Given the description of an element on the screen output the (x, y) to click on. 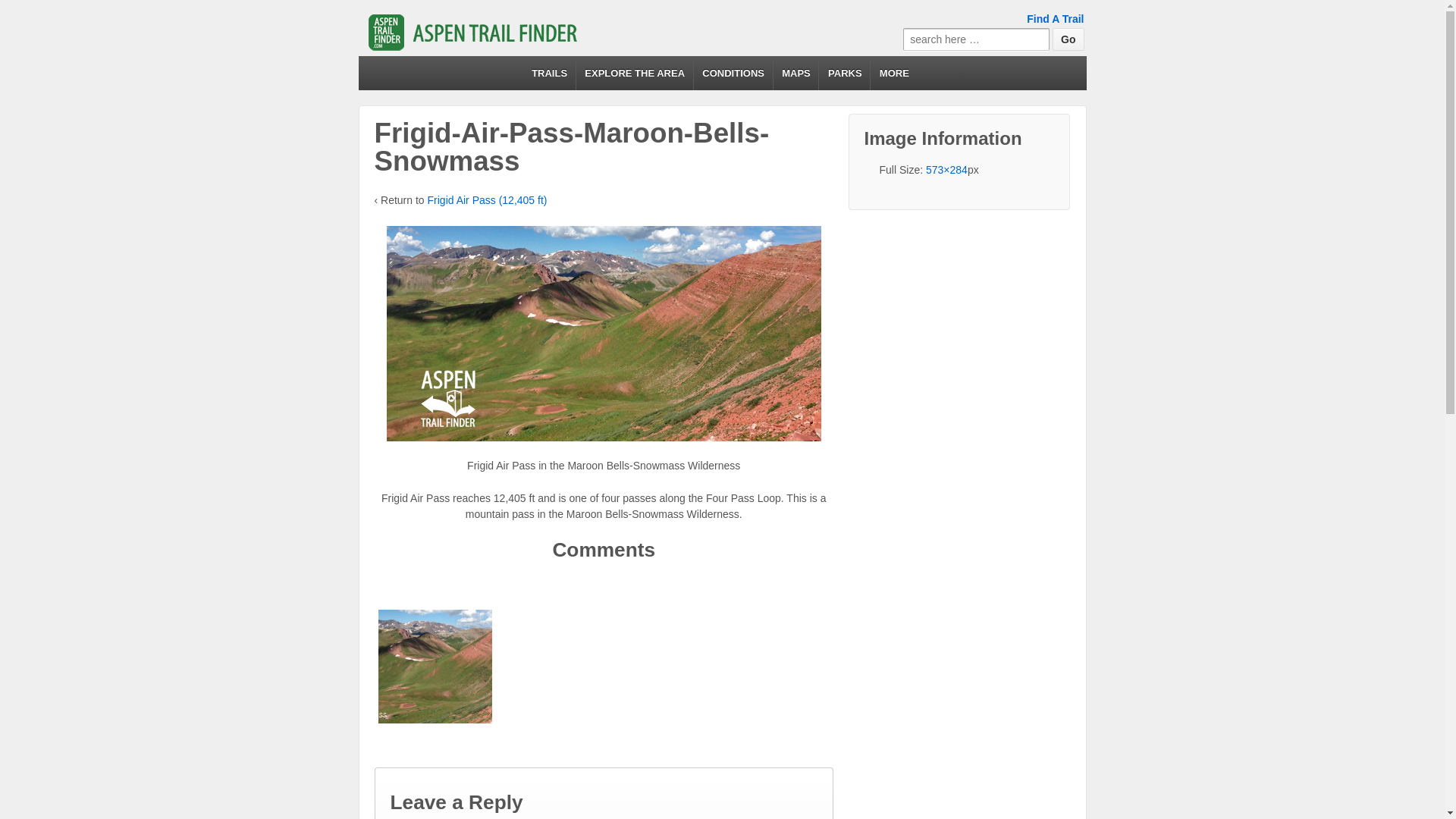
MAPS (796, 73)
Go (1067, 38)
MORE (893, 73)
TRAILS (548, 73)
PARKS (844, 73)
Find A Trail (1054, 19)
EXPLORE THE AREA (634, 73)
CONDITIONS (733, 73)
Go (1067, 38)
